Given the description of an element on the screen output the (x, y) to click on. 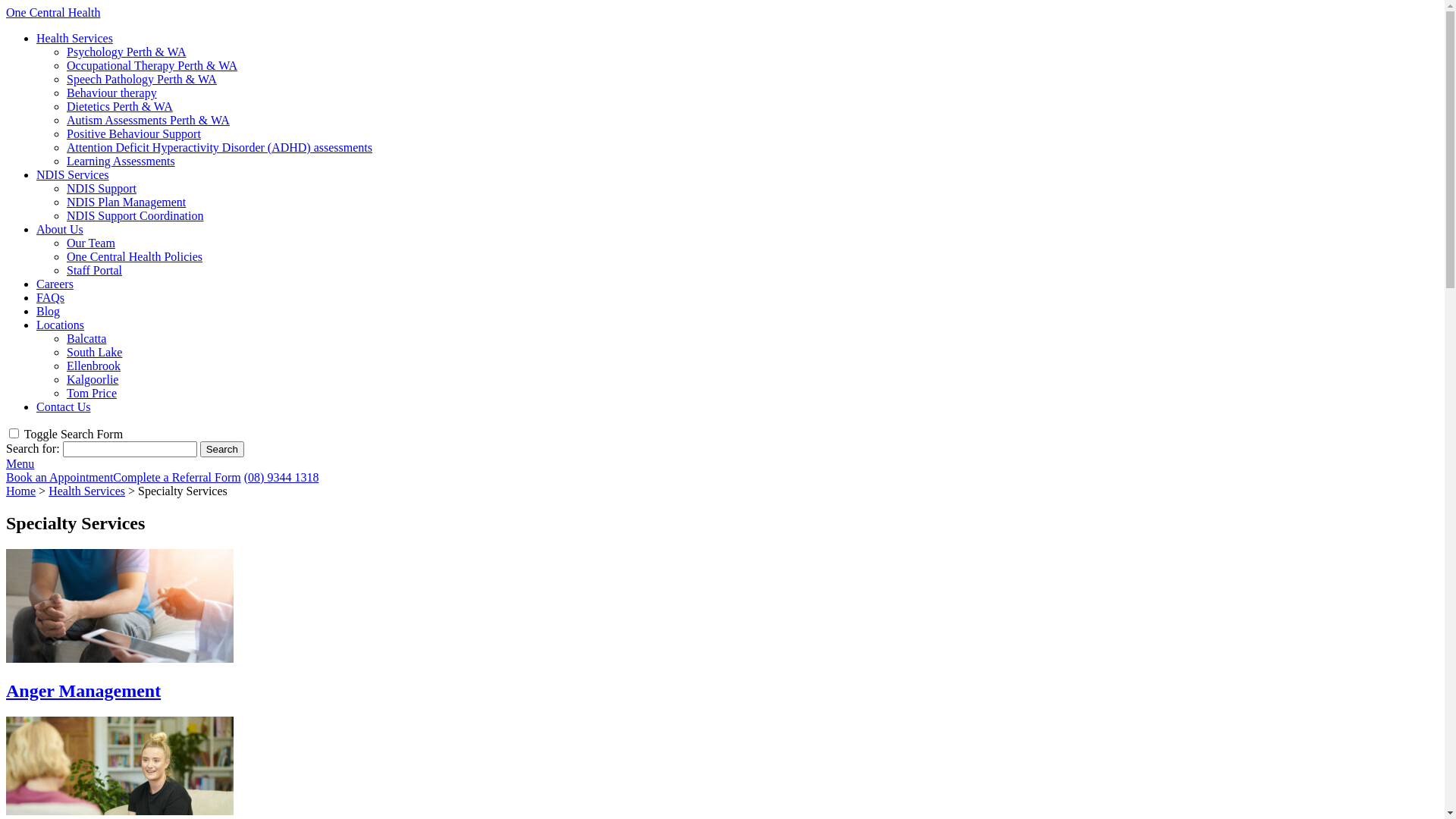
NDIS Plan Management Element type: text (125, 201)
Behaviour therapy Element type: text (111, 92)
Occupational Therapy Perth & WA Element type: text (151, 65)
Careers Element type: text (54, 283)
NDIS Support Coordination Element type: text (134, 215)
Blog Element type: text (47, 310)
Health Services Element type: text (74, 37)
Balcatta Element type: text (86, 338)
Our Team Element type: text (90, 242)
Dietetics Perth & WA Element type: text (119, 106)
FAQs Element type: text (50, 297)
Speech Pathology Perth & WA Element type: text (141, 78)
Kalgoorlie Element type: text (92, 379)
Autism Assessments Perth & WA Element type: text (147, 119)
Anger Management Element type: text (722, 625)
Home Element type: text (20, 490)
Menu Element type: text (20, 463)
Contact Us Element type: text (63, 406)
Health Services Element type: text (86, 490)
Tom Price Element type: text (91, 392)
Book an Appointment Element type: text (59, 476)
NDIS Support Element type: text (101, 188)
Learning Assessments Element type: text (120, 160)
One Central Health Element type: text (53, 12)
About Us Element type: text (59, 228)
South Lake Element type: text (94, 351)
NDIS Services Element type: text (72, 174)
Psychology Perth & WA Element type: text (125, 51)
Ellenbrook Element type: text (93, 365)
Staff Portal Element type: text (94, 269)
Search Element type: text (222, 449)
Locations Element type: text (60, 324)
Attention Deficit Hyperactivity Disorder (ADHD) assessments Element type: text (219, 147)
One Central Health Policies Element type: text (134, 256)
(08) 9344 1318 Element type: text (281, 476)
Positive Behaviour Support Element type: text (133, 133)
Complete a Referral Form Element type: text (176, 476)
